Given the description of an element on the screen output the (x, y) to click on. 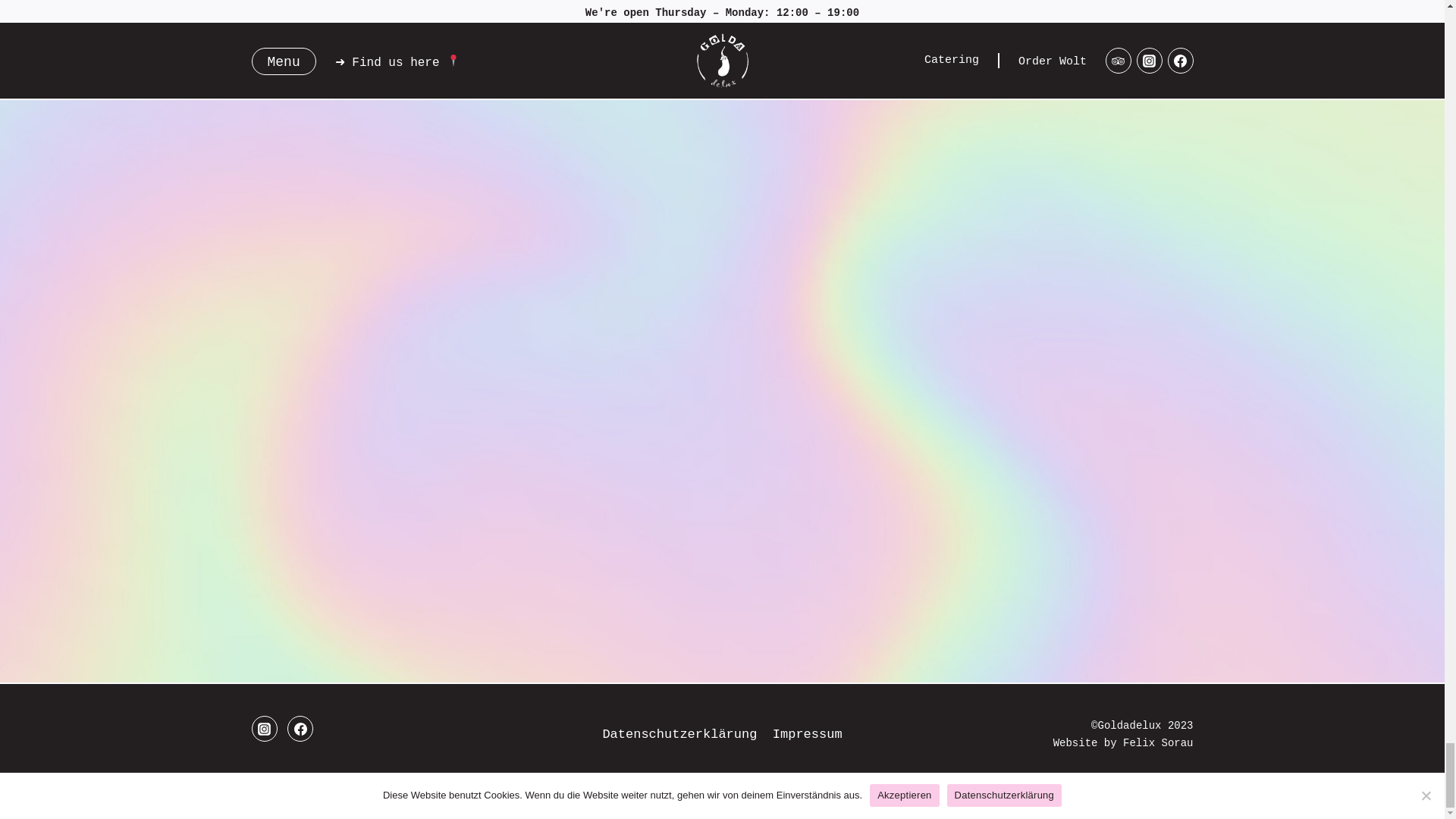
Impressum (807, 734)
Website by Felix Sorau (1122, 743)
